Given the description of an element on the screen output the (x, y) to click on. 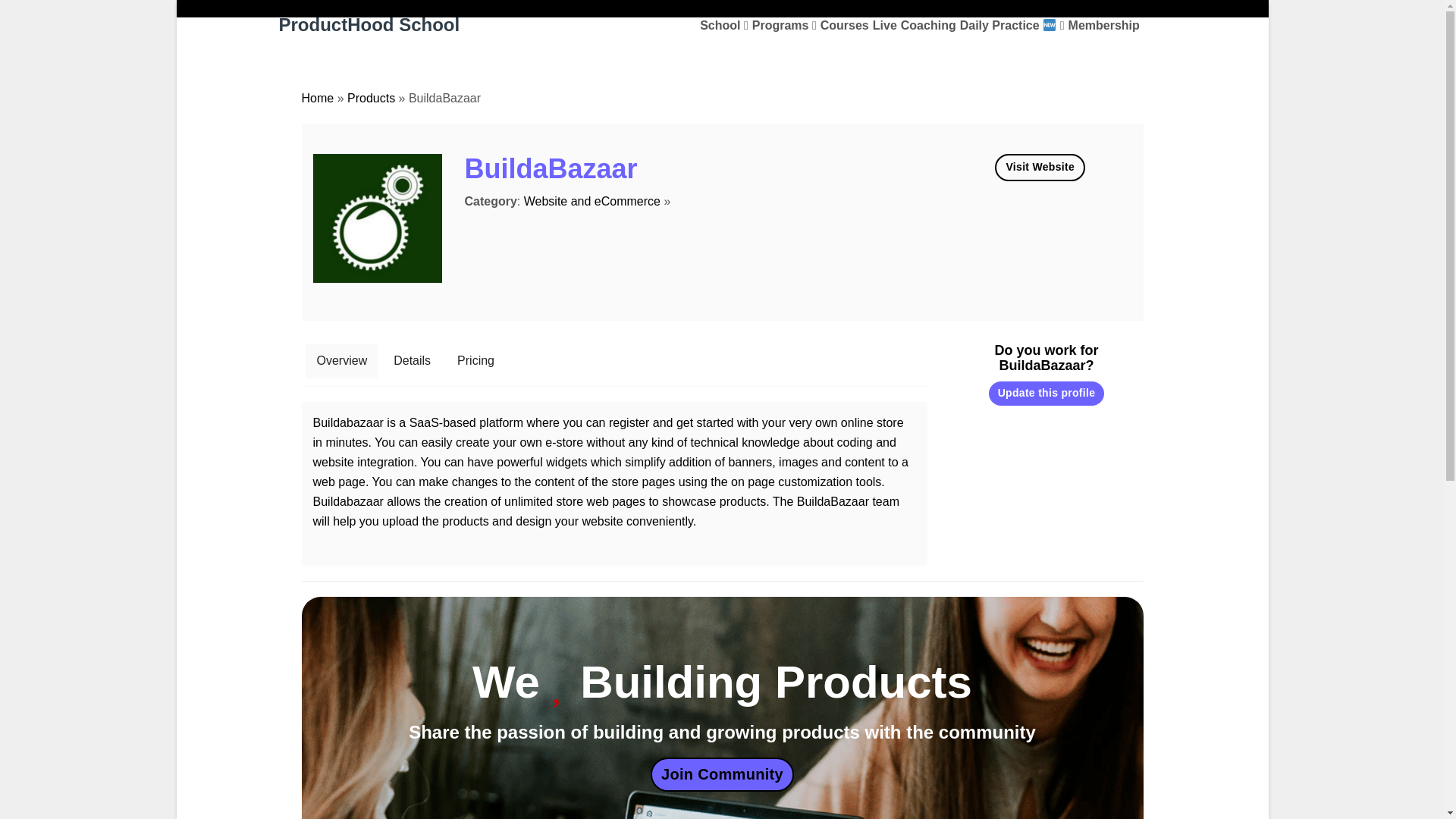
Products (370, 97)
School (724, 26)
Live (884, 26)
Programs (784, 26)
Website and eCommerce (592, 201)
Courses (845, 26)
Live (884, 26)
Visit Website (1039, 166)
Daily Practice (1011, 26)
Programs (784, 26)
